Given the description of an element on the screen output the (x, y) to click on. 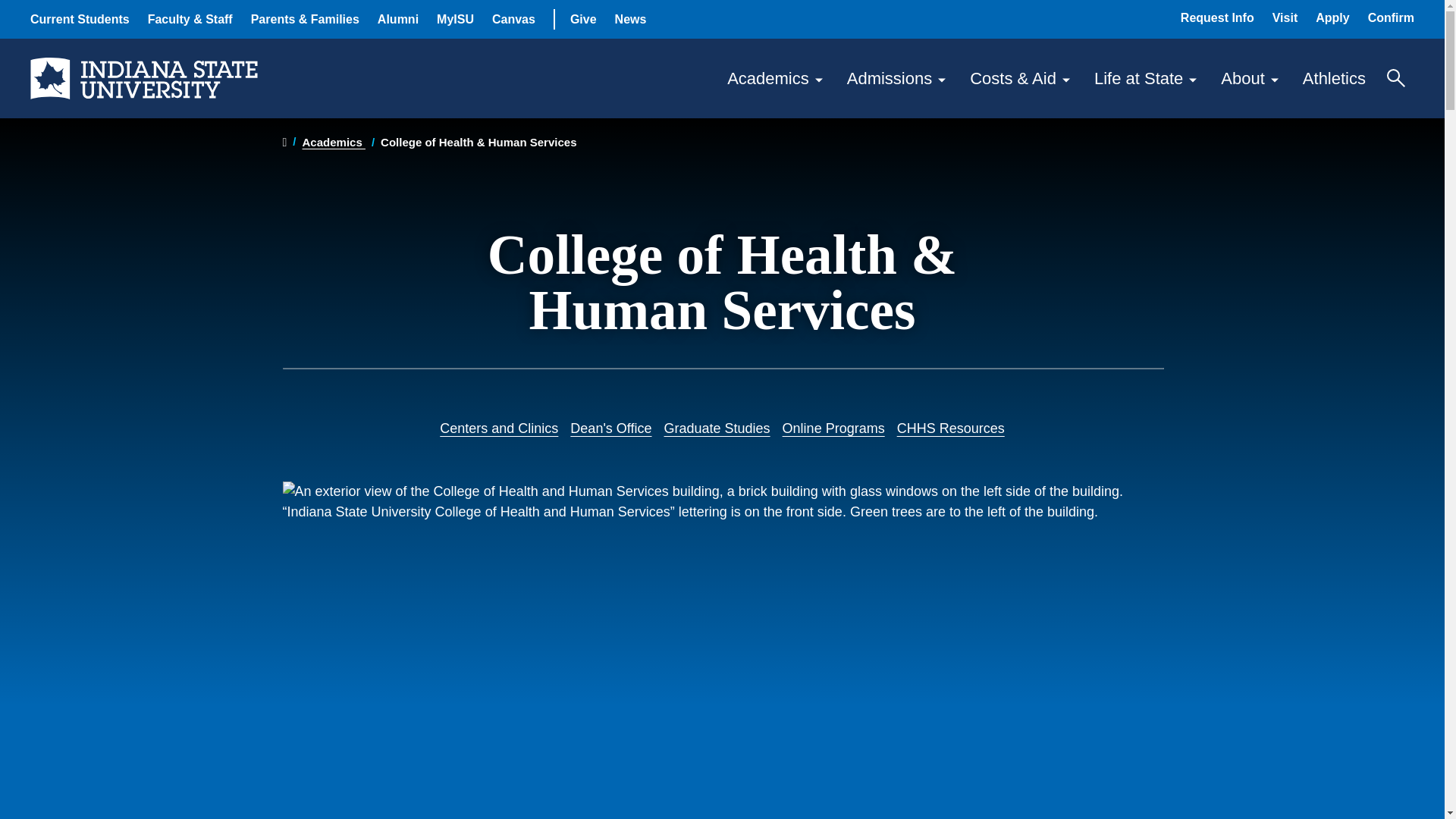
Canvas (513, 19)
Admissions (896, 77)
Life at State (1144, 77)
Academics (774, 77)
MyISU (455, 19)
About (1249, 77)
Indiana State University (143, 77)
